Given the description of an element on the screen output the (x, y) to click on. 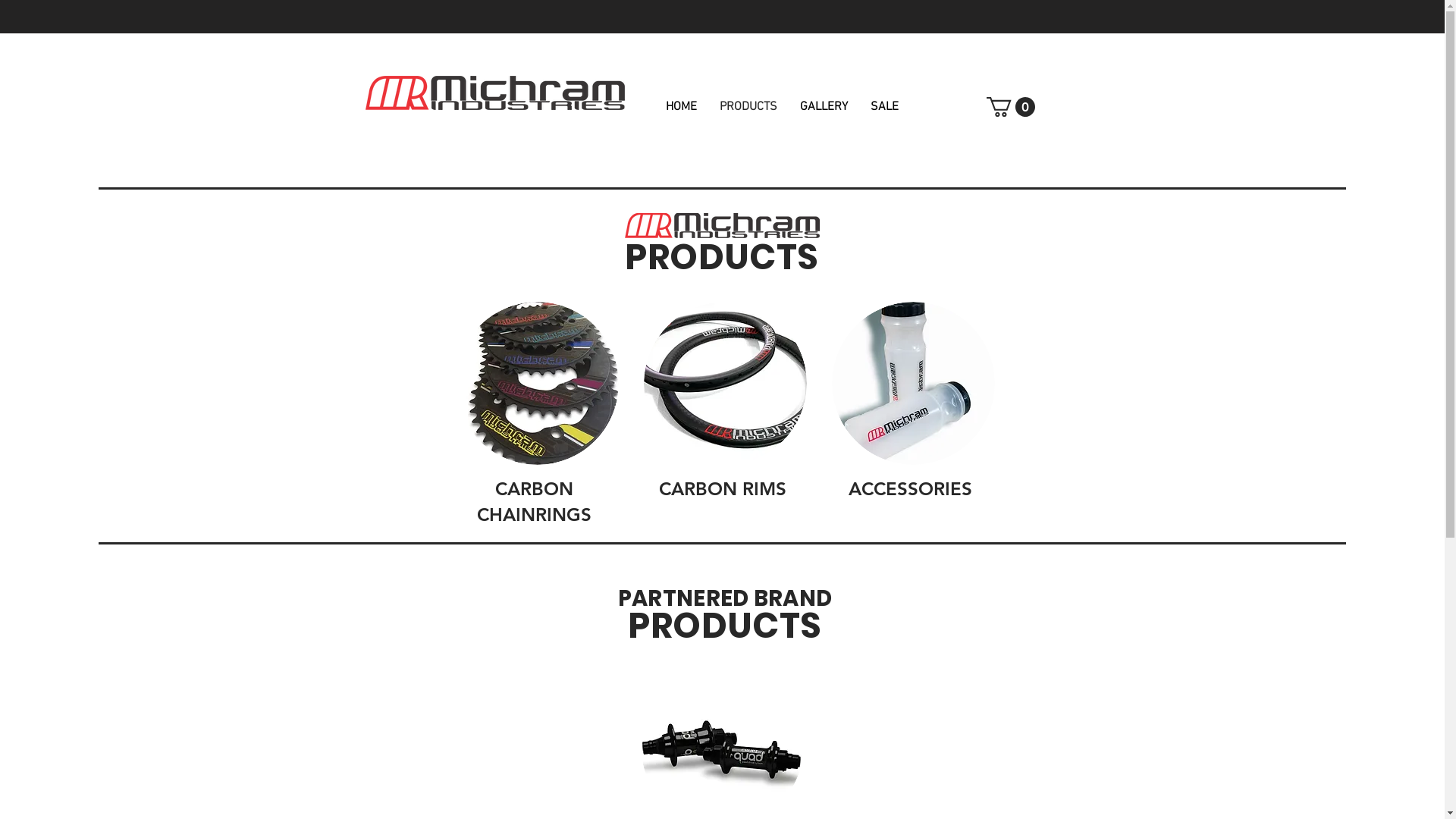
SALE Element type: text (884, 106)
HOME Element type: text (681, 106)
0 Element type: text (1009, 106)
GALLERY Element type: text (823, 106)
PRODUCTS Element type: text (748, 106)
